Given the description of an element on the screen output the (x, y) to click on. 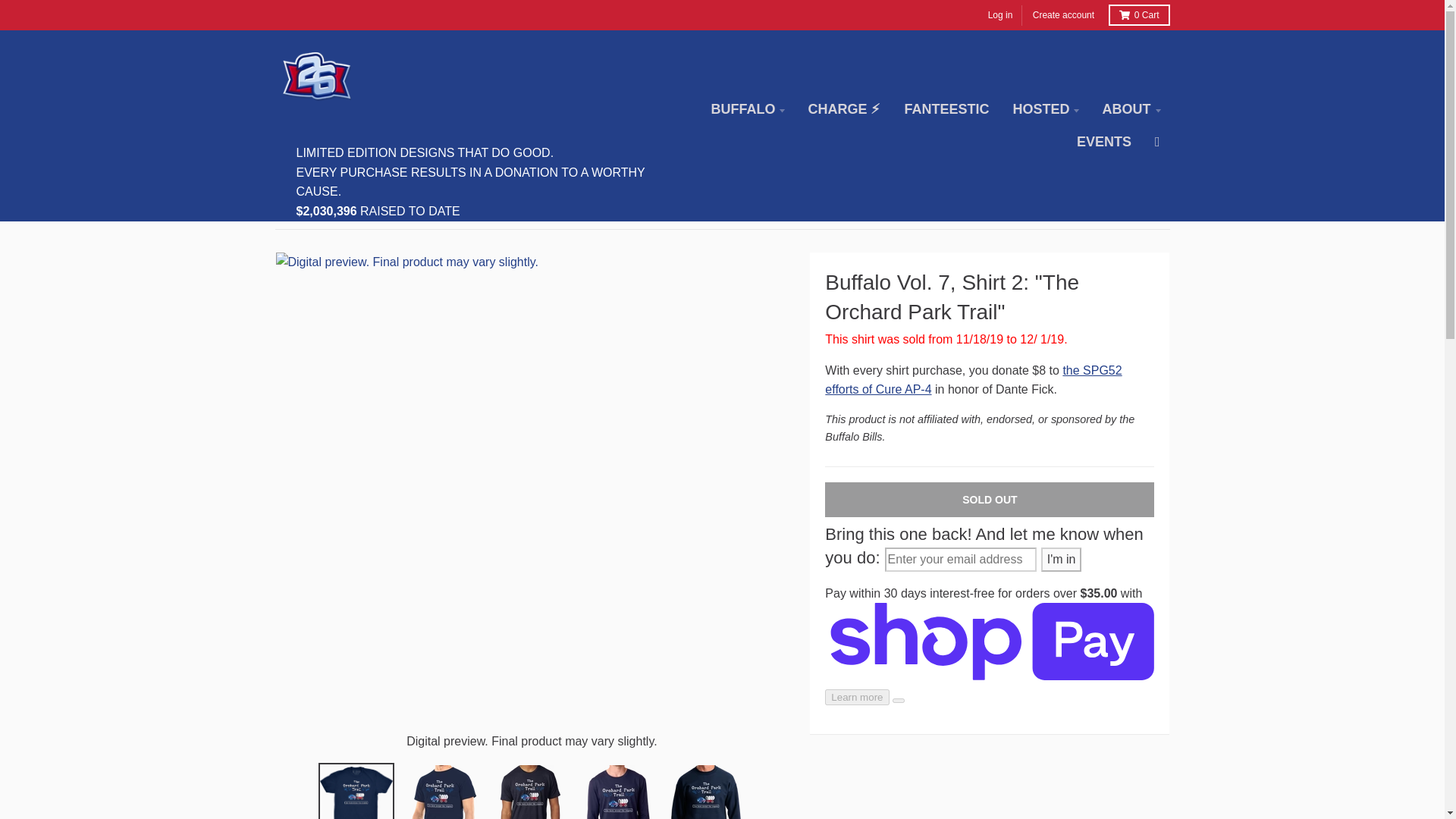
FANTEESTIC (945, 109)
I'm in! (1061, 559)
0 Cart (1138, 14)
Create account (1063, 14)
BUFFALO (746, 109)
HOSTED (1045, 109)
Log in (1000, 14)
